Given the description of an element on the screen output the (x, y) to click on. 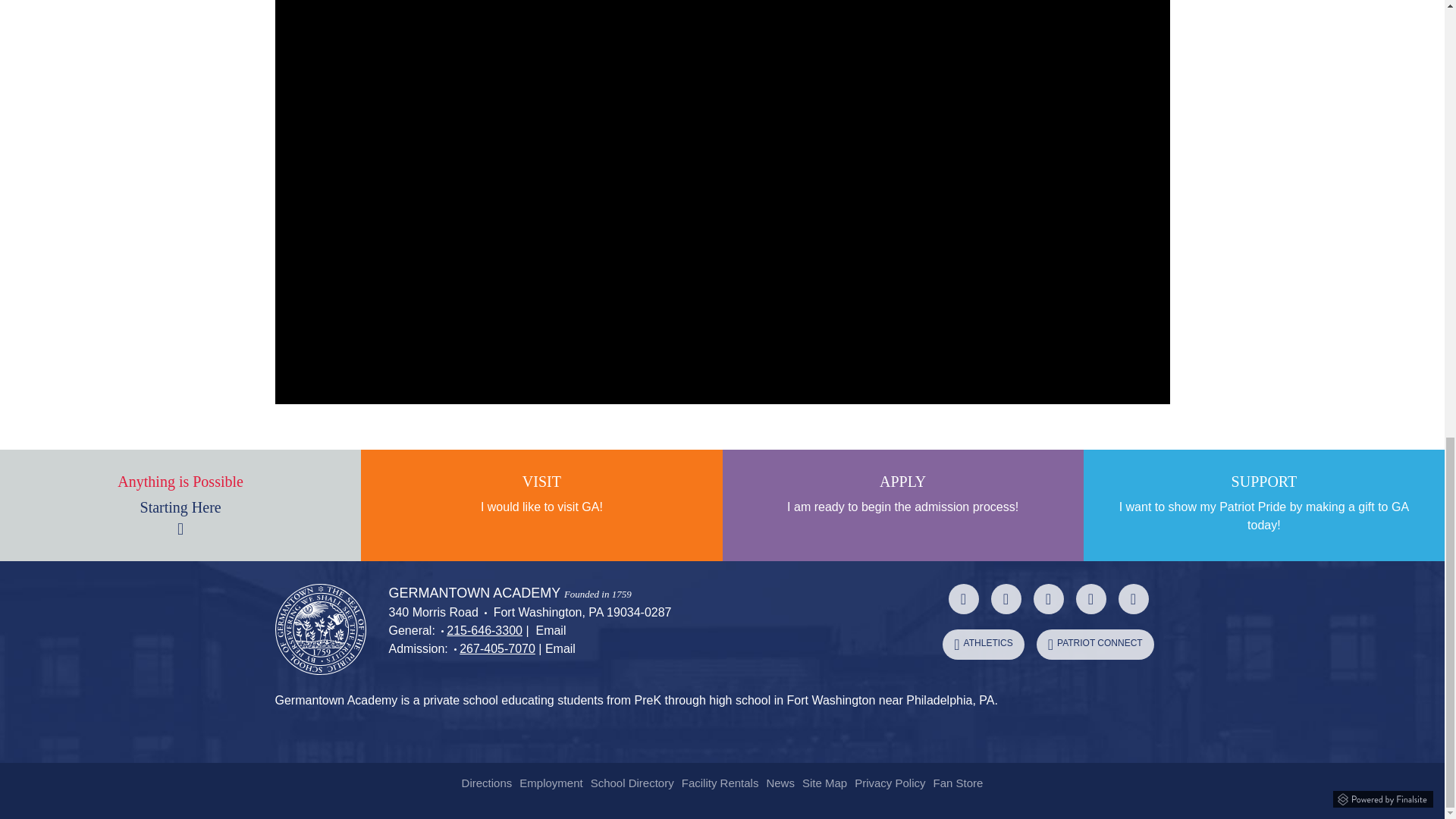
Powered by Finalsite opens in a new window (1382, 797)
